Given the description of an element on the screen output the (x, y) to click on. 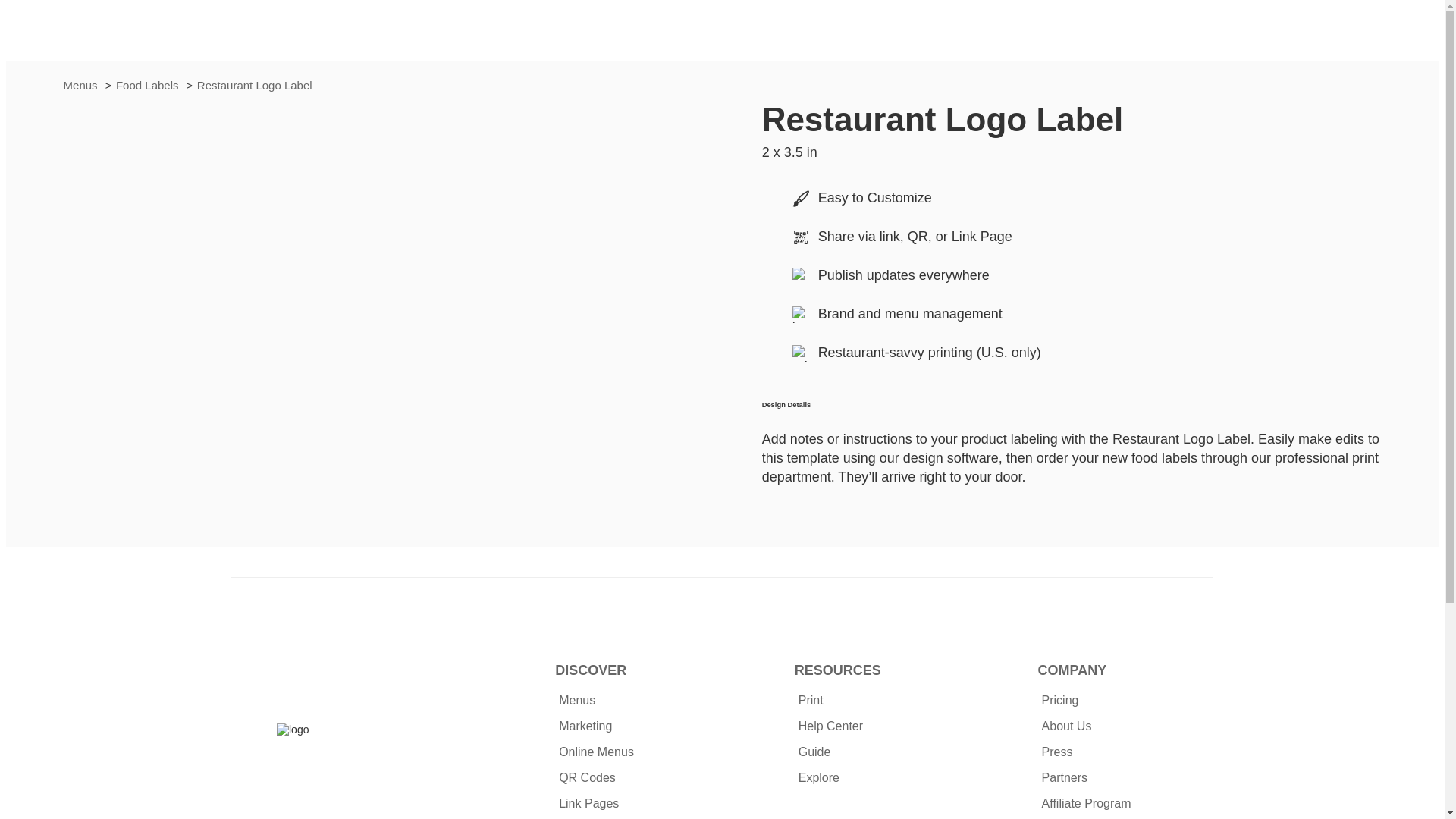
Menus (82, 84)
Food Labels (149, 84)
Restaurant Logo Label (254, 84)
